Given the description of an element on the screen output the (x, y) to click on. 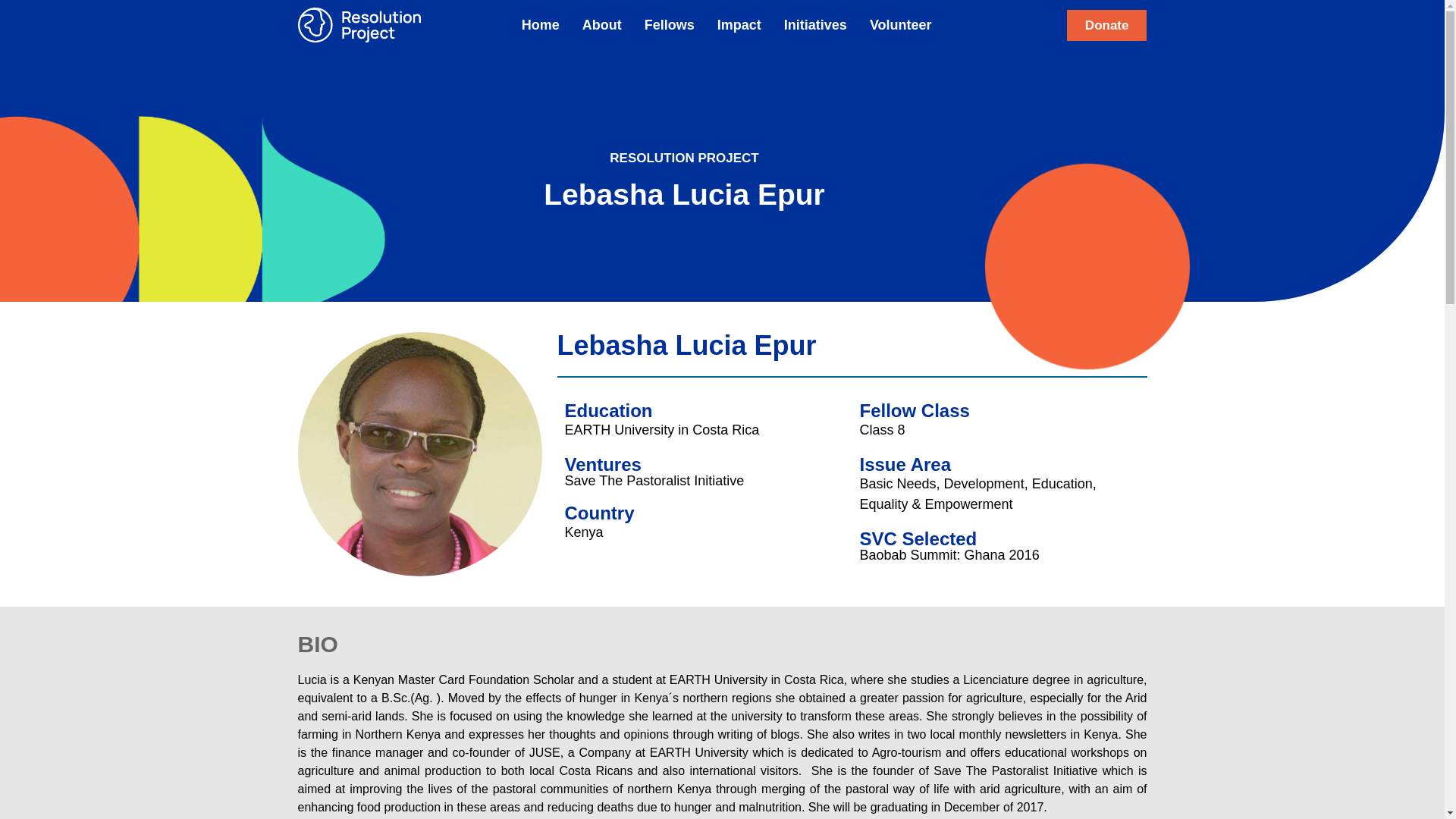
Volunteer (901, 24)
Home (540, 24)
Impact (739, 24)
Fellows (669, 24)
Lucia (419, 454)
Initiatives (816, 24)
About (601, 24)
